Given the description of an element on the screen output the (x, y) to click on. 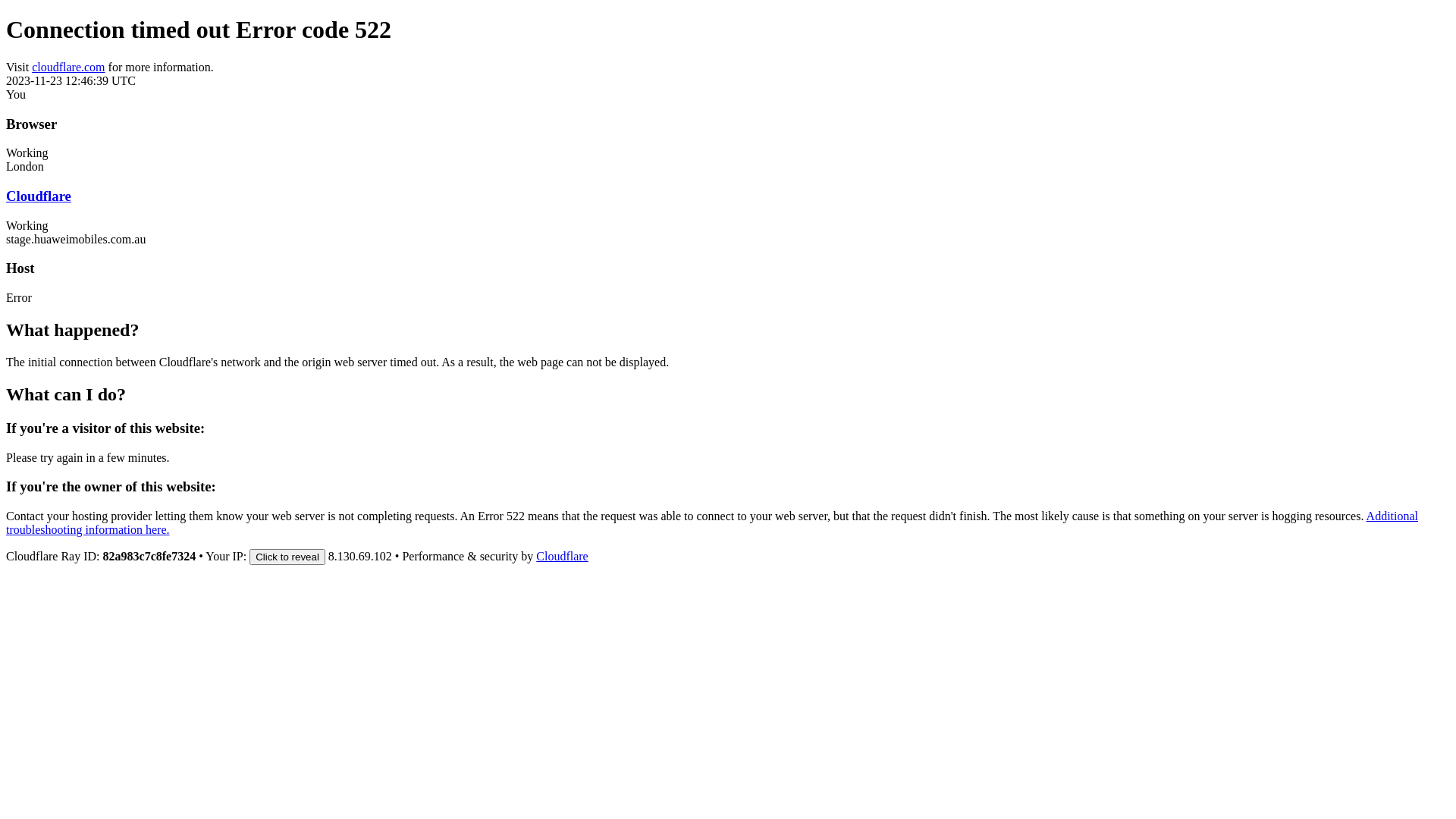
Click to reveal Element type: text (287, 556)
cloudflare.com Element type: text (67, 66)
Additional troubleshooting information here. Element type: text (712, 522)
Cloudflare Element type: text (561, 555)
Cloudflare Element type: text (38, 195)
